Given the description of an element on the screen output the (x, y) to click on. 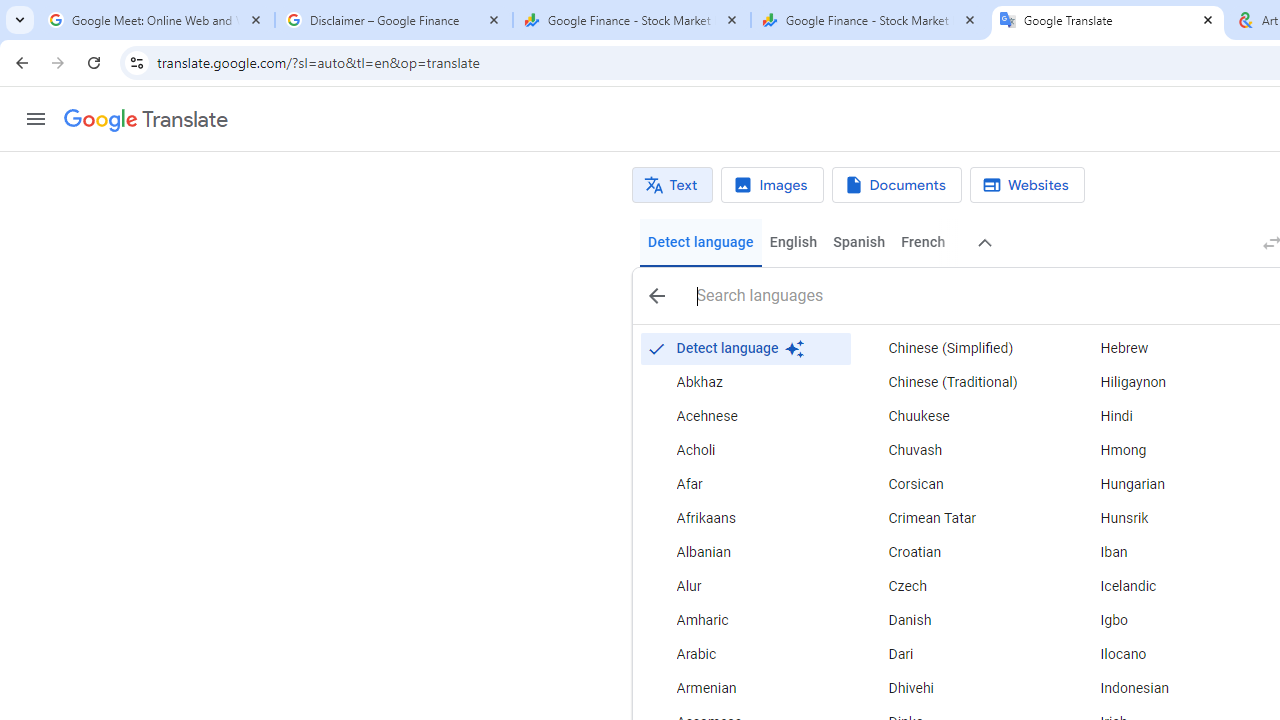
Main menu (35, 119)
Czech (957, 586)
Danish (957, 620)
Ilocano (1168, 655)
Dari (957, 655)
Crimean Tatar (957, 518)
Close search (656, 295)
Abkhaz (745, 382)
Afar (745, 484)
Google Translate (145, 120)
Google Translate (1108, 20)
Albanian (745, 552)
Chuukese (957, 416)
Iban (1168, 552)
Hindi (1168, 416)
